Given the description of an element on the screen output the (x, y) to click on. 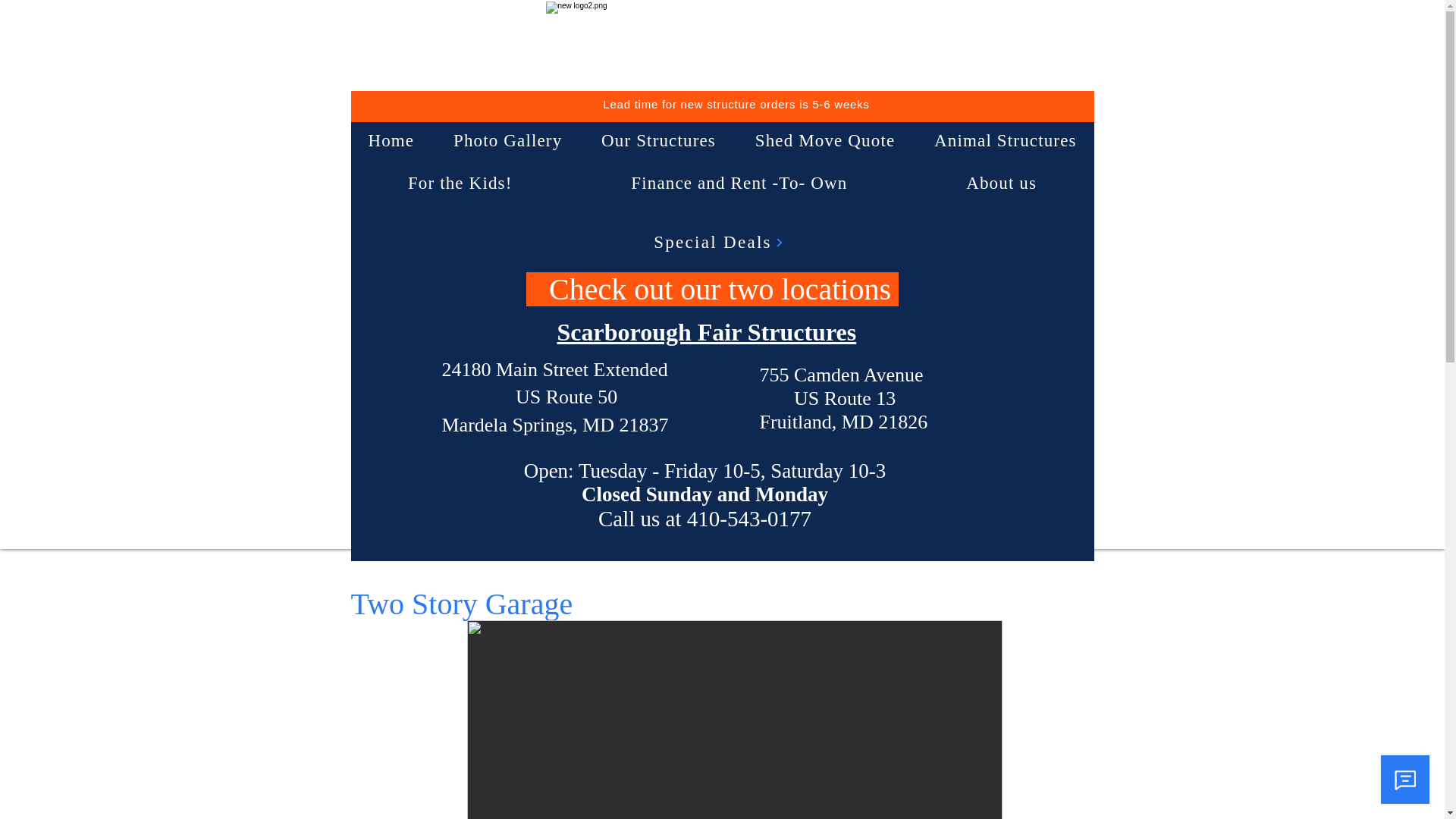
Home (391, 140)
Photo Gallery (507, 140)
About us (1001, 183)
Shed Move Quote (824, 140)
Special Deals (718, 242)
Finance and Rent -To- Own (739, 183)
